Given the description of an element on the screen output the (x, y) to click on. 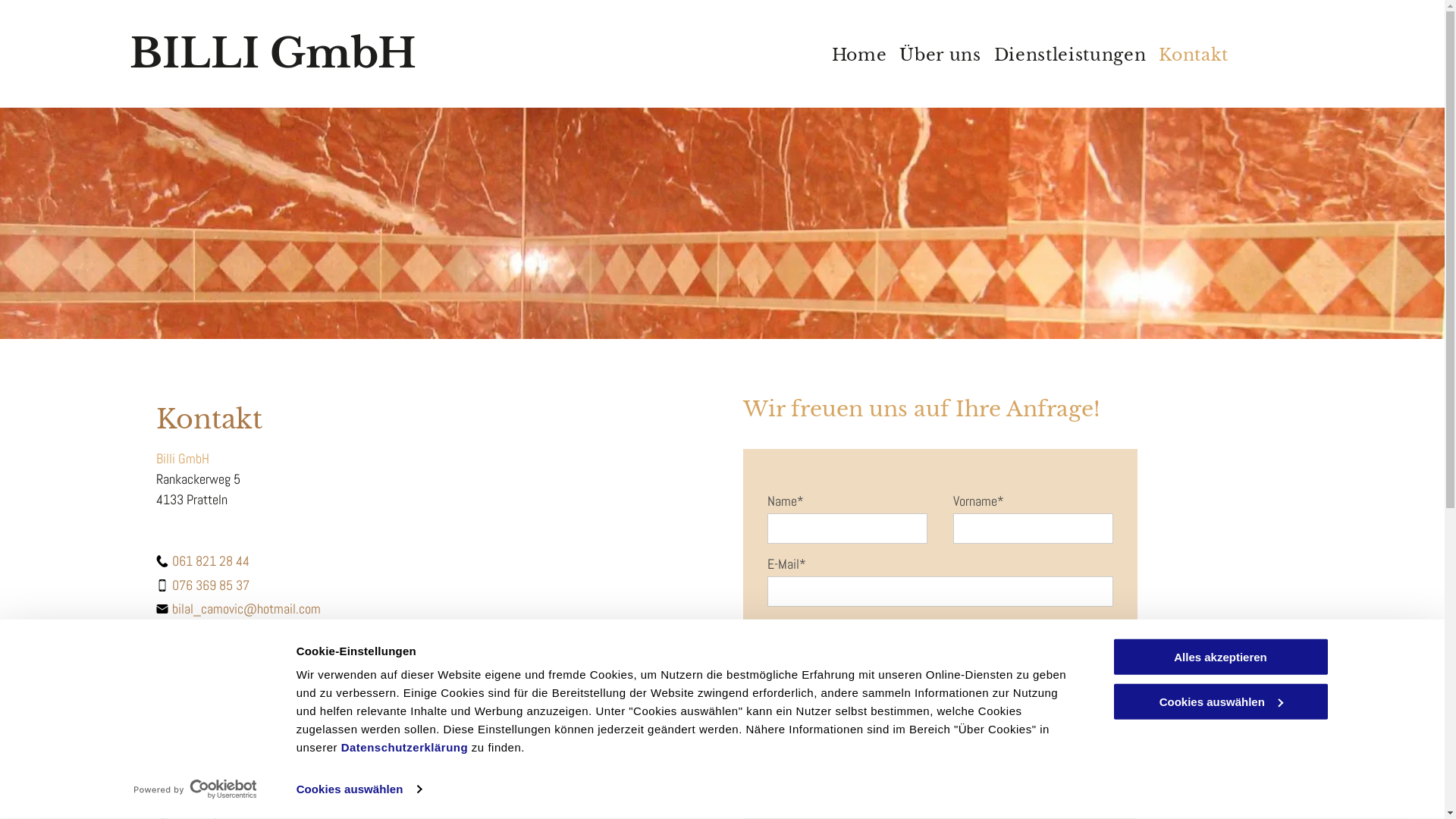
061 821 28 44 Element type: text (210, 560)
Dienstleistungen Element type: text (1063, 54)
Senden Element type: text (802, 795)
BILLI GmbH Element type: text (272, 53)
Kontakt Element type: text (1186, 54)
Home Element type: text (853, 54)
Alles akzeptieren Element type: text (1219, 656)
076 369 85 37 Element type: text (210, 584)
bilal_camovic@hotmail.com Element type: text (246, 608)
